Given the description of an element on the screen output the (x, y) to click on. 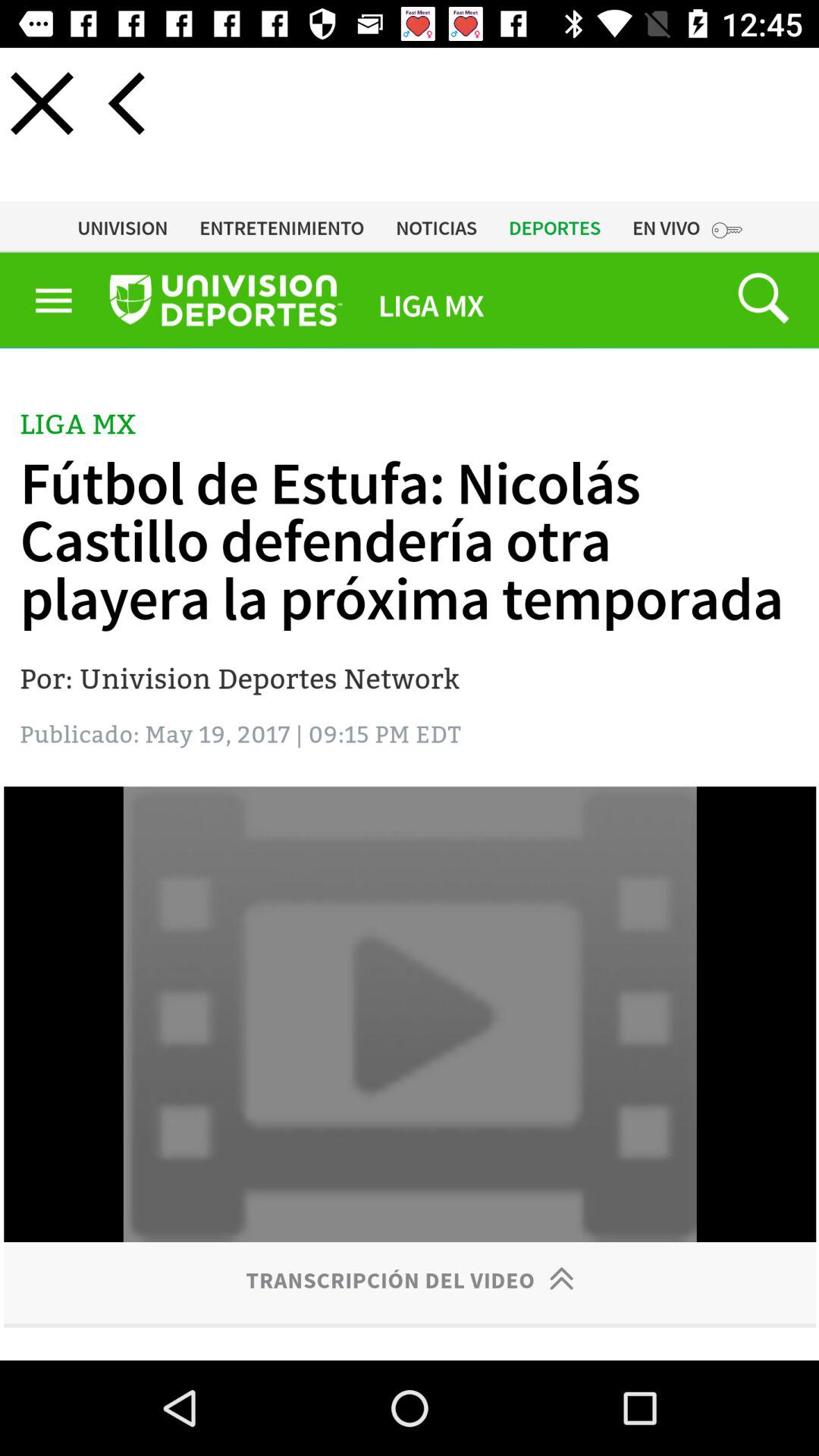
close page (41, 103)
